Given the description of an element on the screen output the (x, y) to click on. 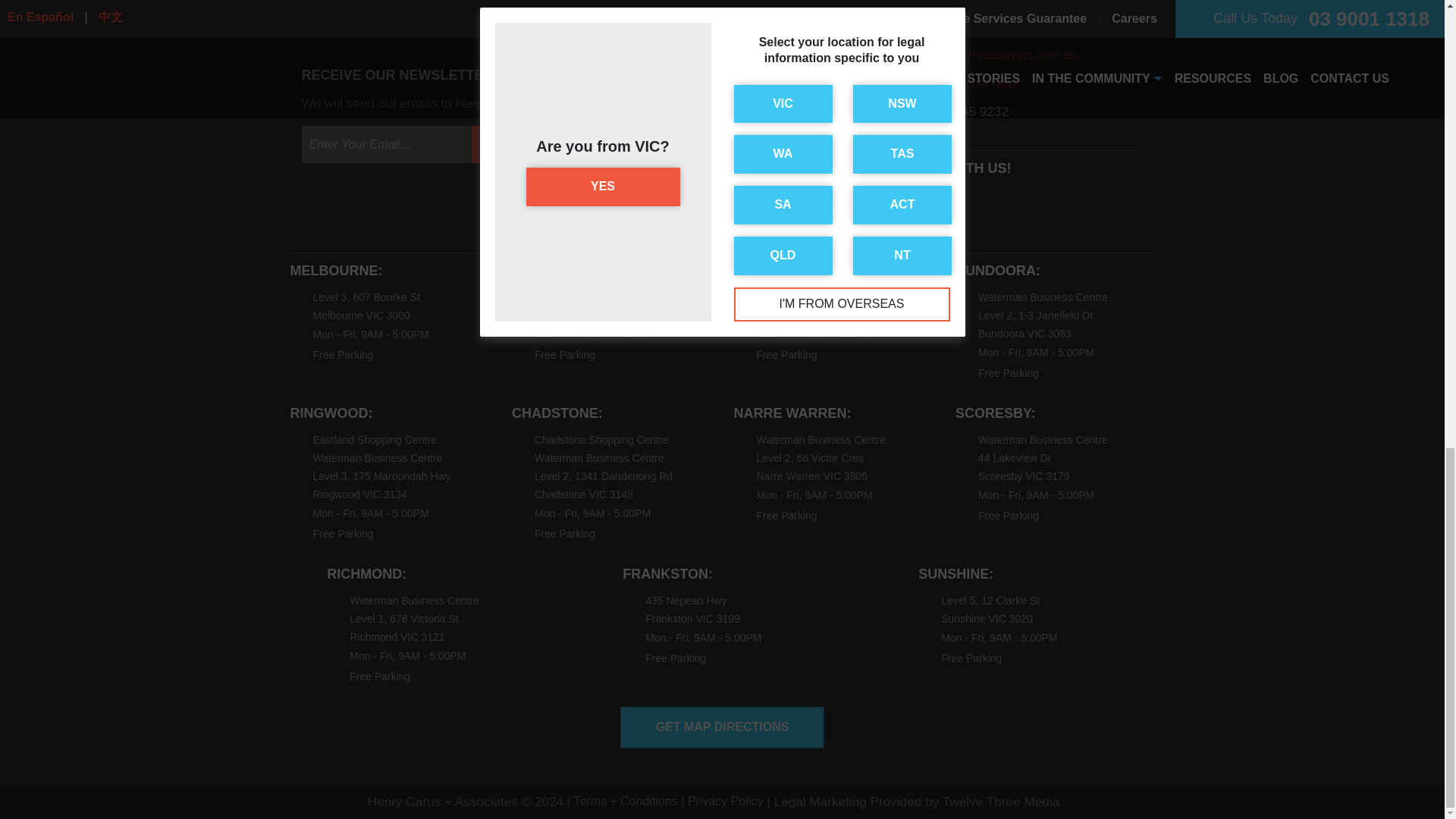
Sign Up! (517, 144)
